Given the description of an element on the screen output the (x, y) to click on. 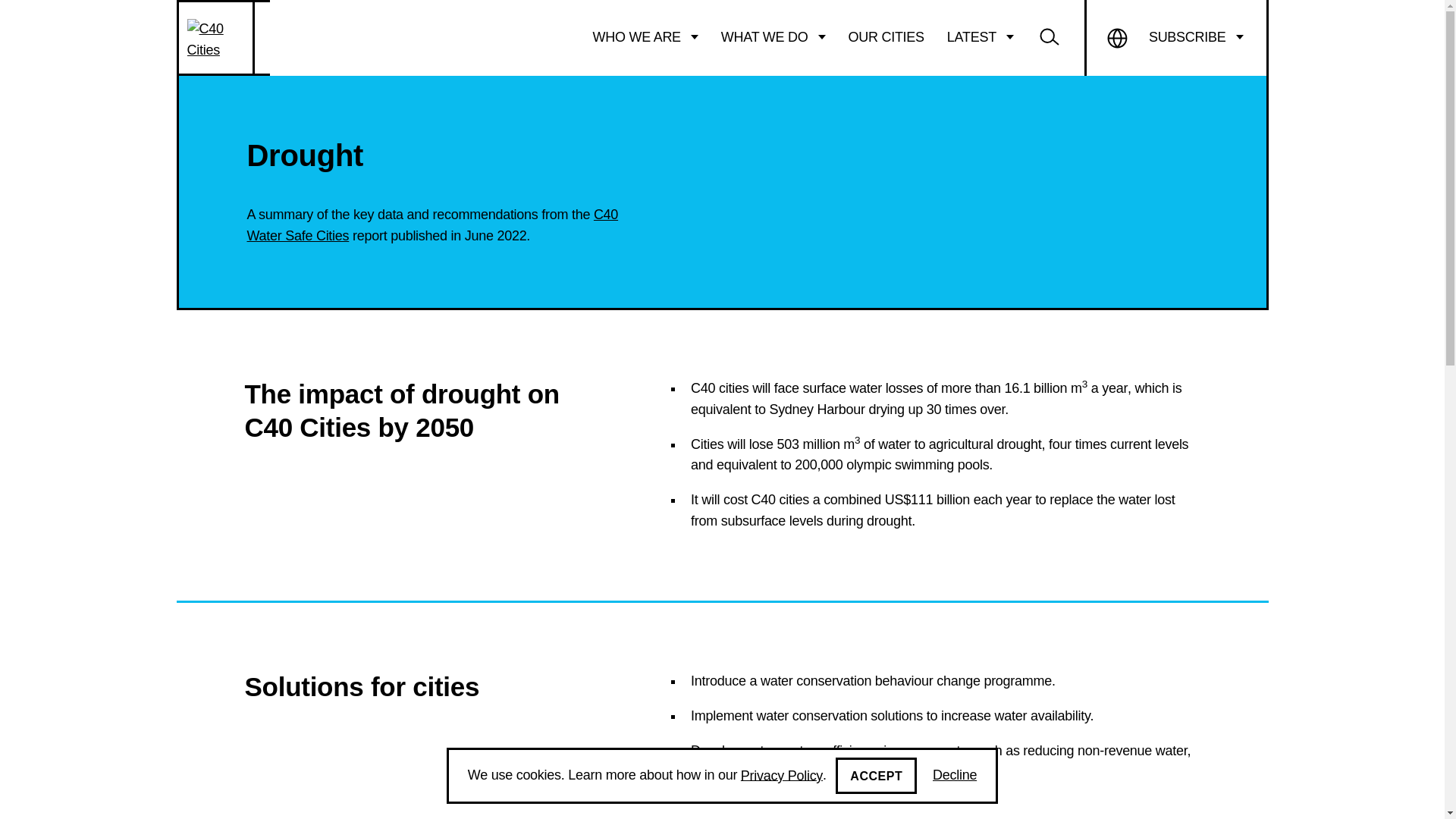
LATEST (980, 37)
WHAT WE DO (773, 37)
WHO WE ARE (645, 37)
OUR CITIES (886, 37)
